Given the description of an element on the screen output the (x, y) to click on. 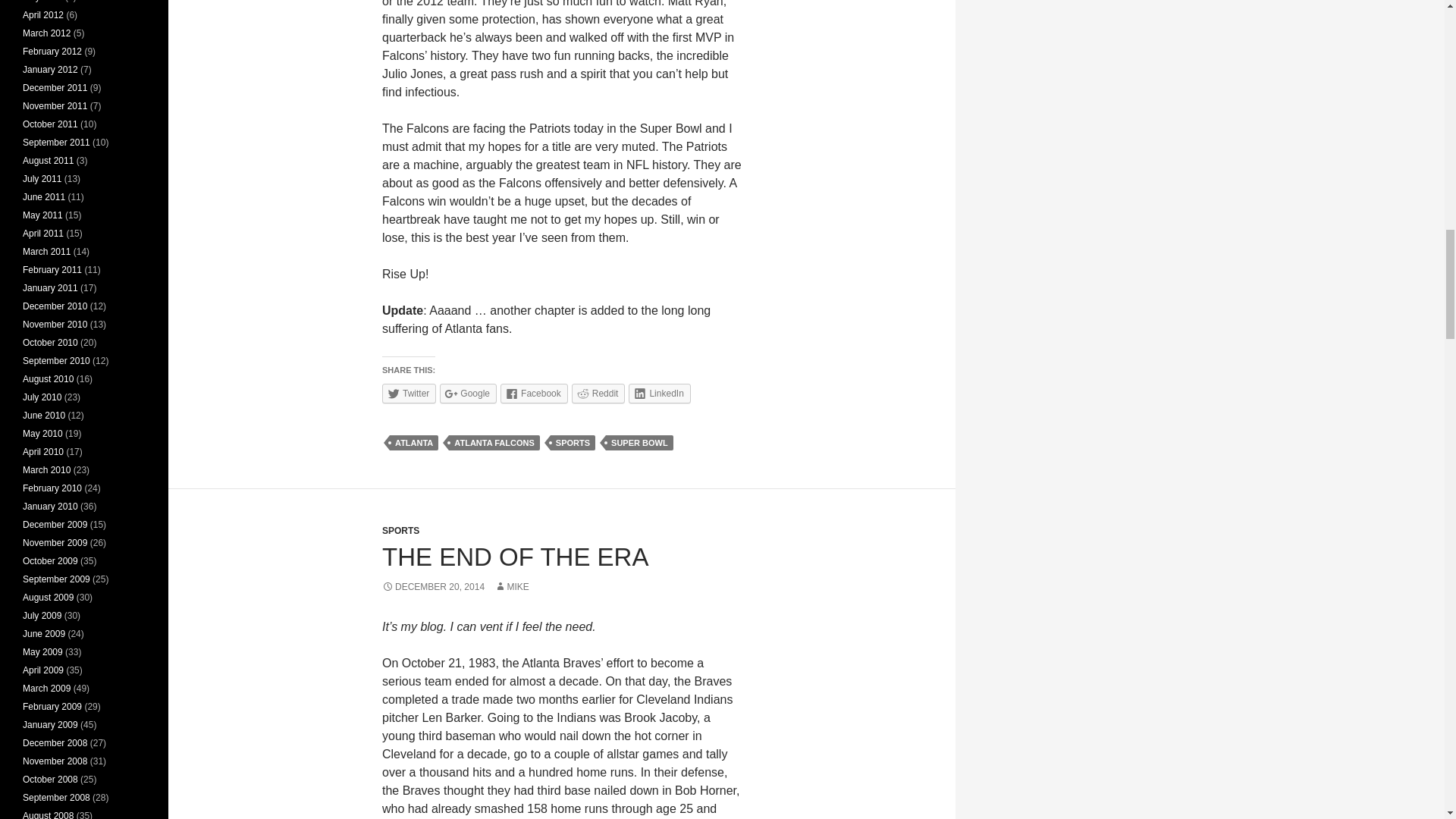
SPORTS (400, 530)
ATLANTA (414, 442)
Click to share on Facebook (533, 393)
Click to share on LinkedIn (659, 393)
ATLANTA FALCONS (494, 442)
THE END OF THE ERA (514, 556)
SUPER BOWL (638, 442)
Reddit (599, 393)
Google (467, 393)
DECEMBER 20, 2014 (432, 586)
